Given the description of an element on the screen output the (x, y) to click on. 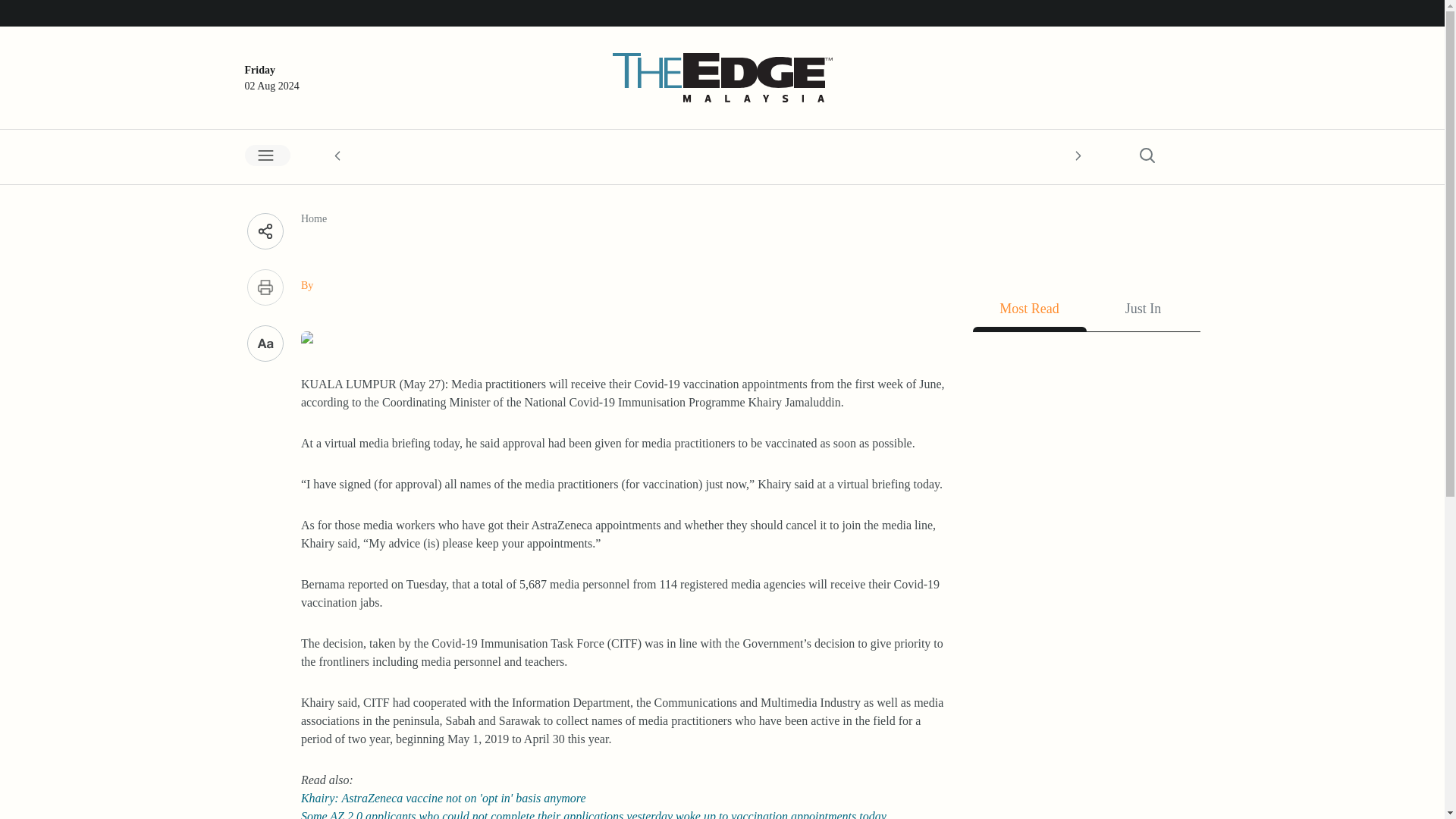
Home (313, 218)
Just In (1142, 312)
Most Read (1029, 312)
Khairy: AstraZeneca vaccine not on 'opt in' basis anymore (443, 797)
